Given the description of an element on the screen output the (x, y) to click on. 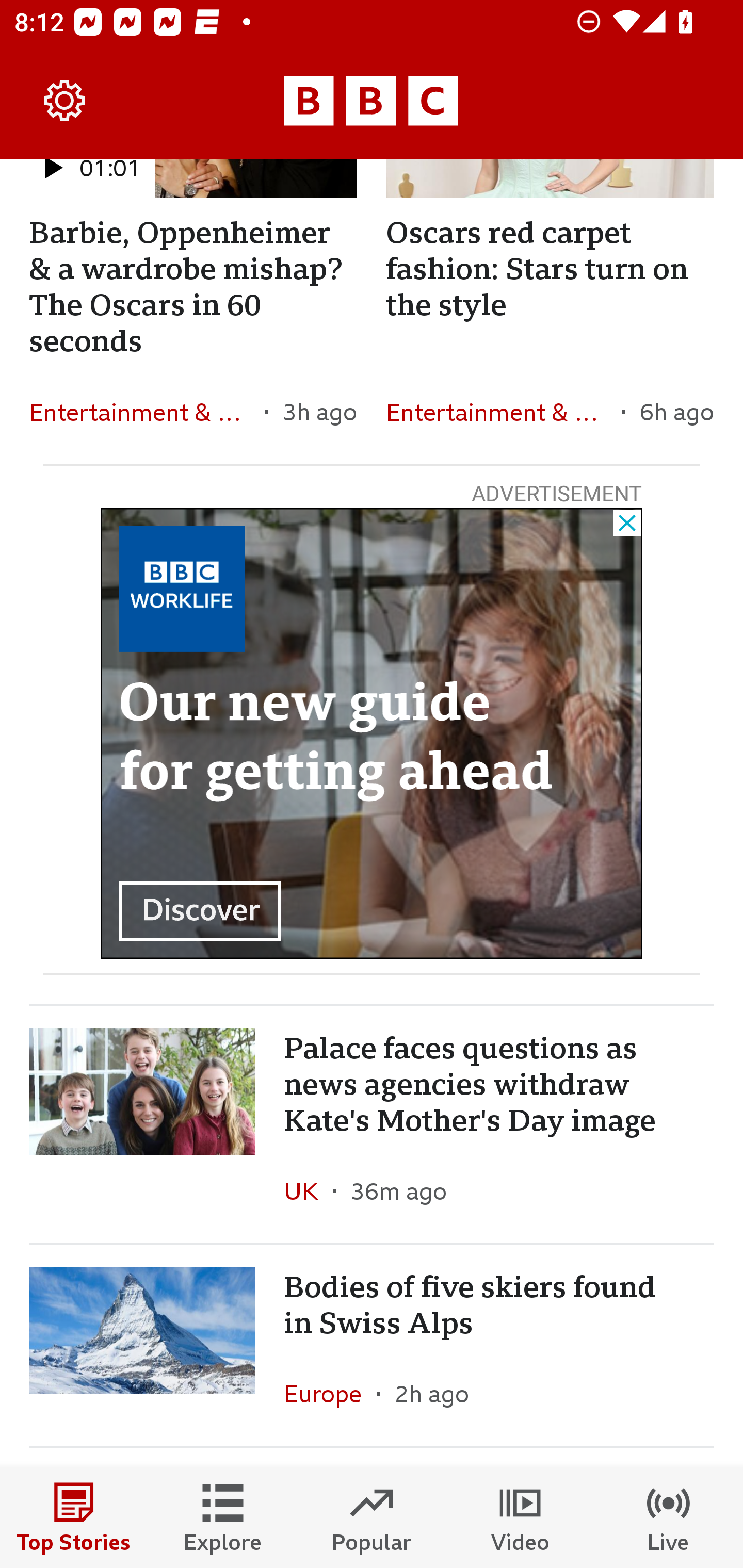
Settings (64, 100)
UK In the section UK (307, 1190)
Europe In the section Europe (329, 1393)
Explore (222, 1517)
Popular (371, 1517)
Video (519, 1517)
Live (668, 1517)
